Given the description of an element on the screen output the (x, y) to click on. 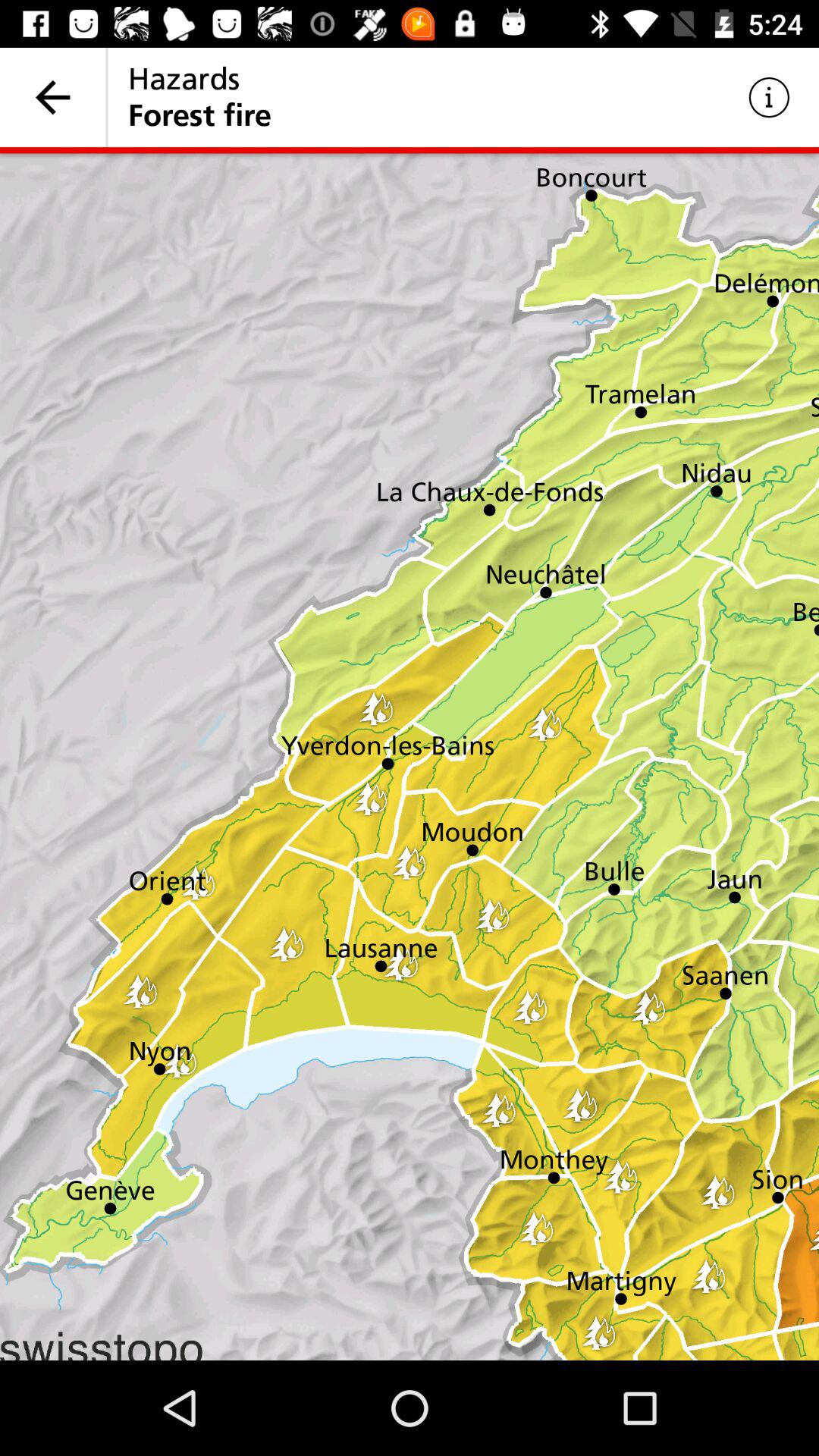
tap the icon to the left of hazards item (52, 97)
